Given the description of an element on the screen output the (x, y) to click on. 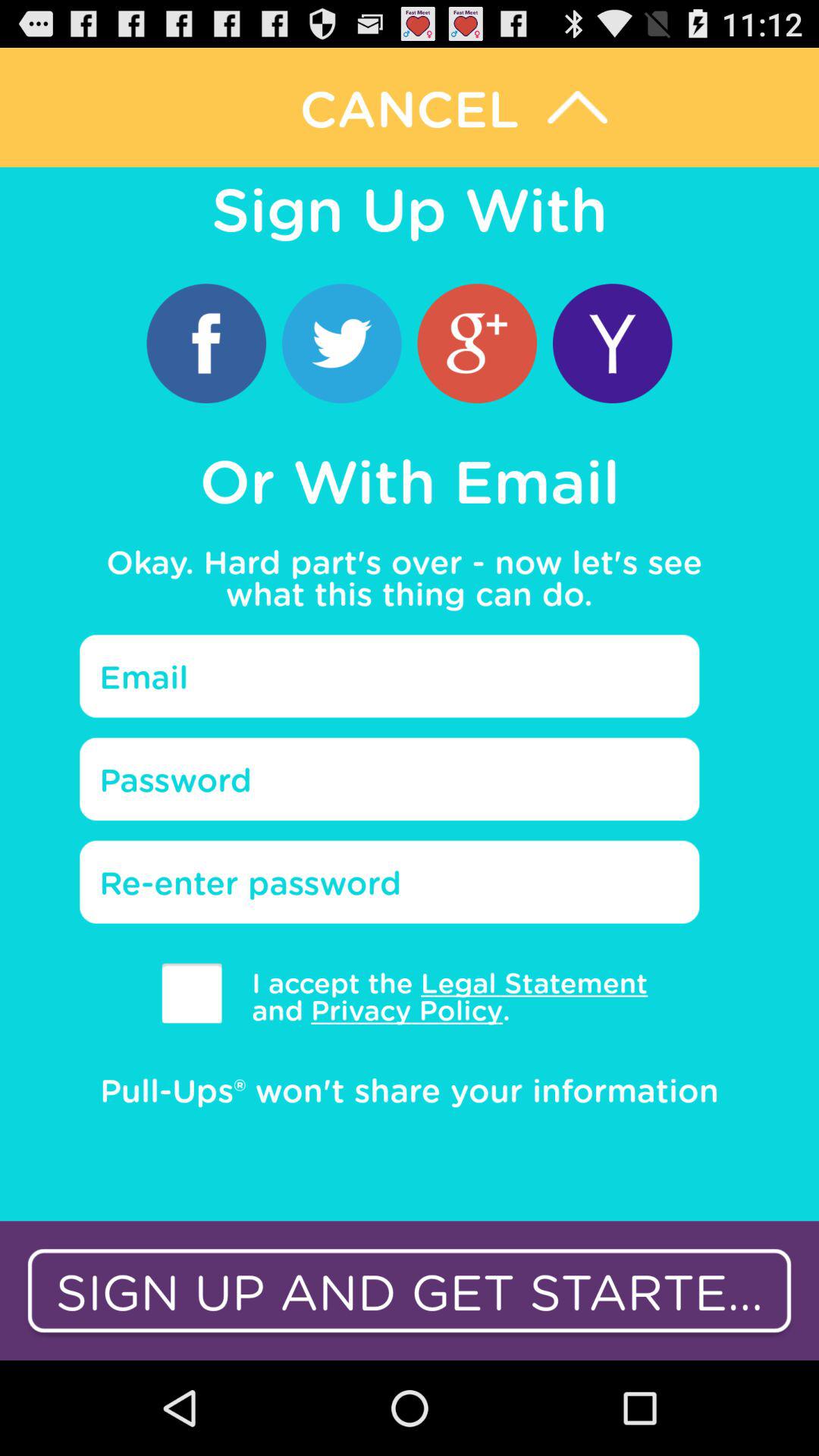
launch the icon at the top left corner (206, 343)
